Given the description of an element on the screen output the (x, y) to click on. 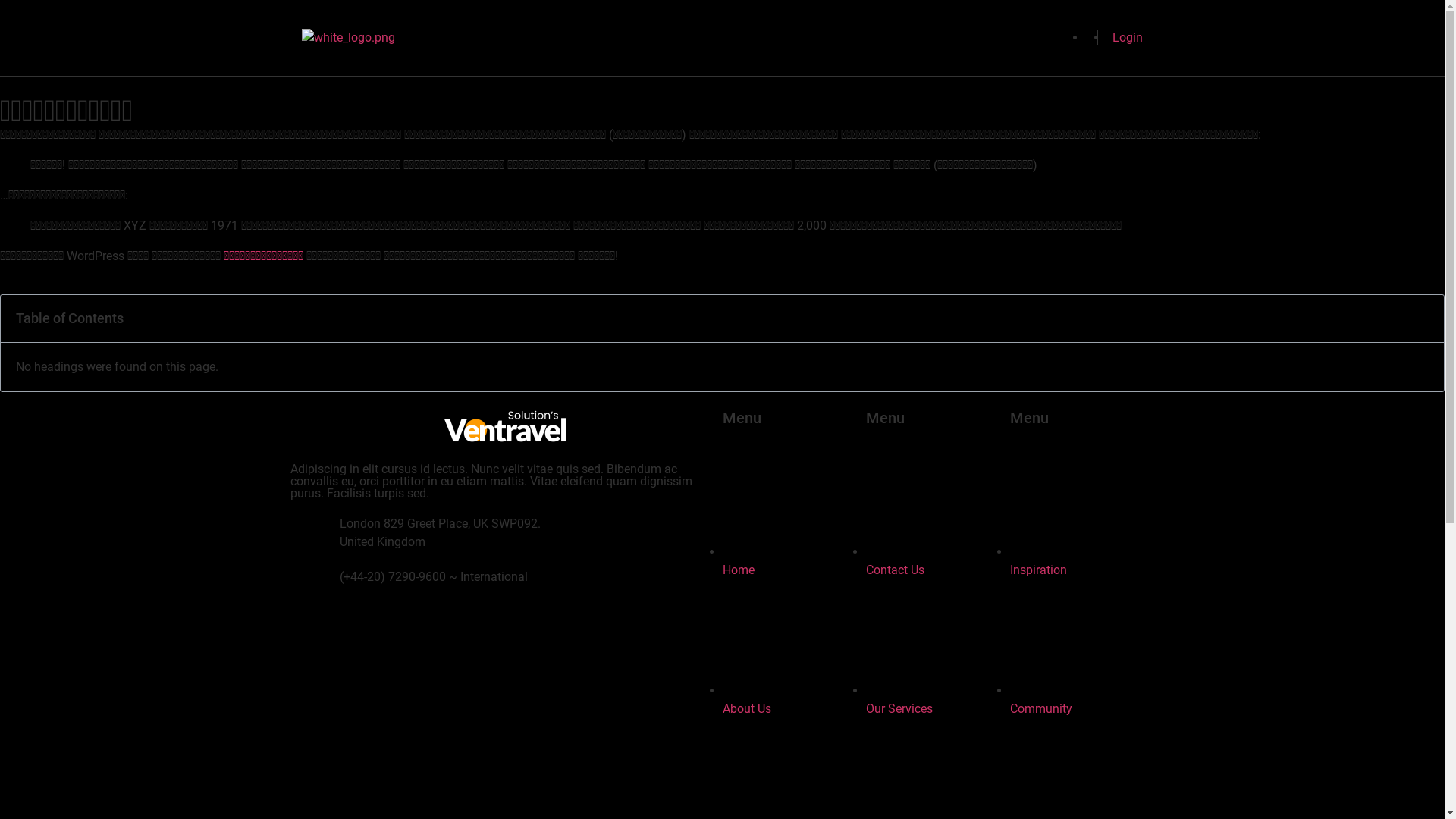
Community Element type: text (1082, 699)
Our Services Element type: text (938, 699)
Contact Us Element type: text (938, 560)
About Us Element type: text (793, 699)
Login Element type: text (1124, 37)
Inspiration Element type: text (1082, 560)
white_logo.png Element type: hover (505, 429)
Home Element type: text (793, 560)
